Given the description of an element on the screen output the (x, y) to click on. 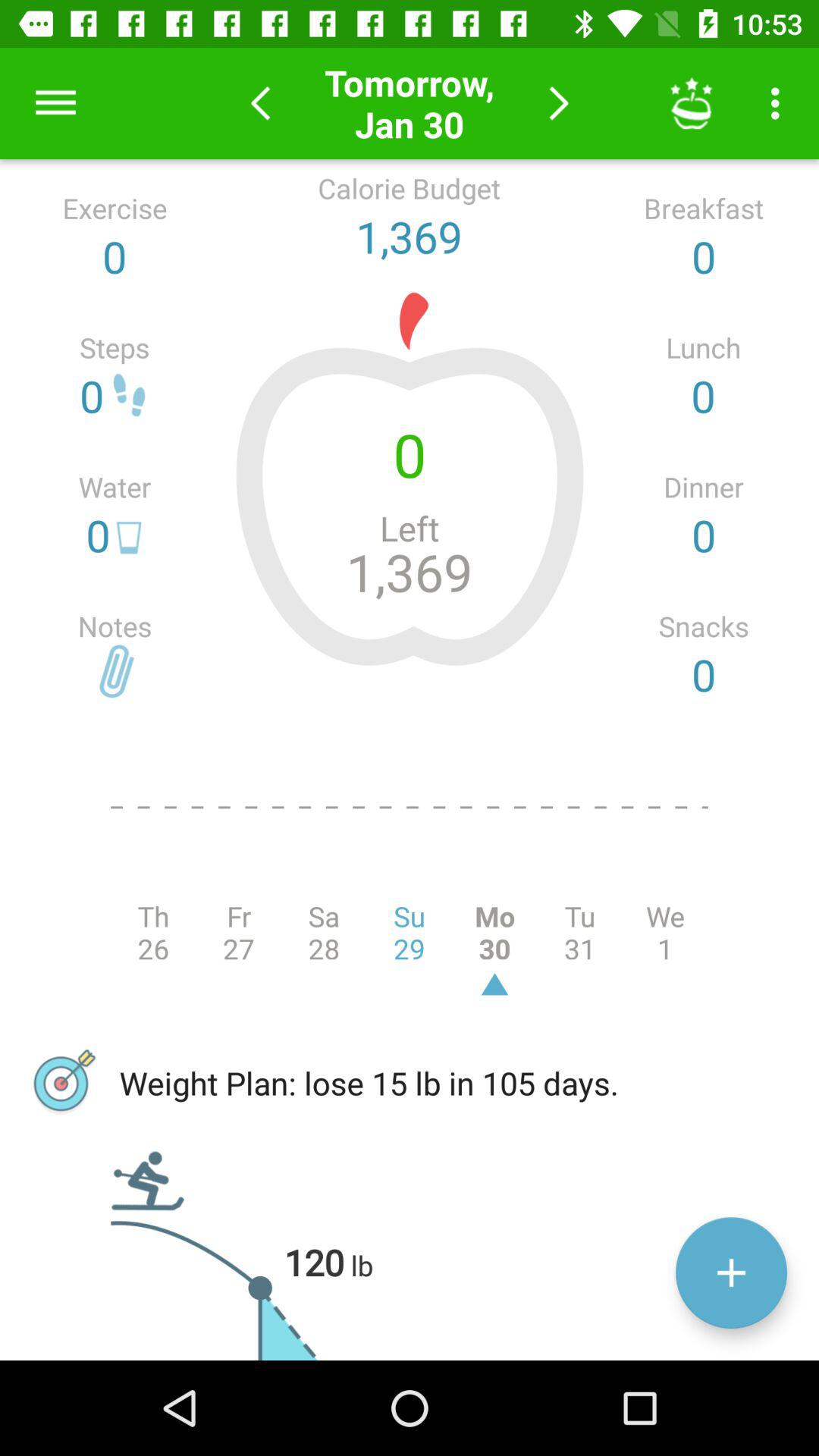
advertisement day diary (731, 1272)
